Given the description of an element on the screen output the (x, y) to click on. 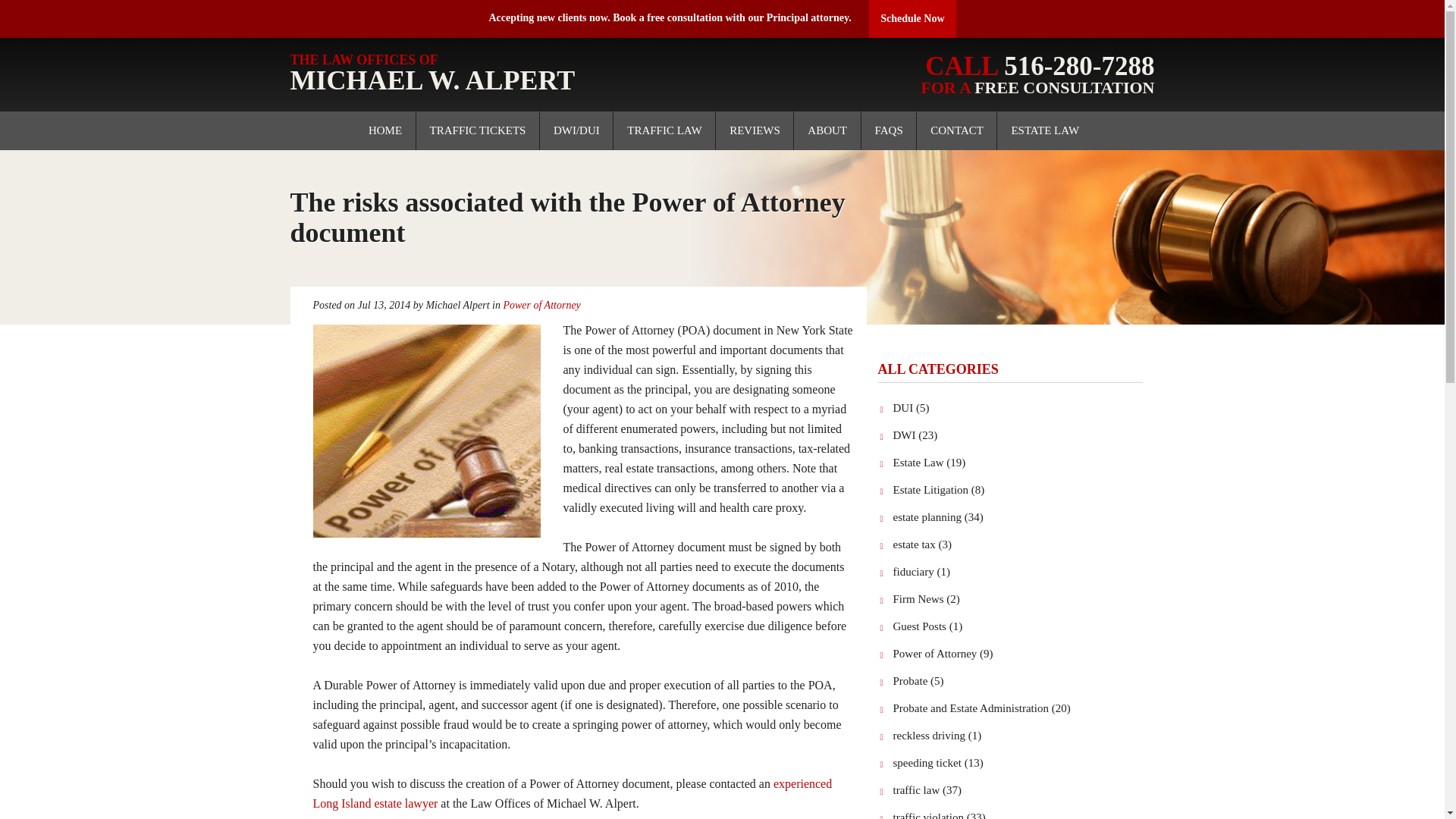
experienced Long Island estate lawyer (572, 793)
experienced Long Island estate lawyer (572, 793)
TRAFFIC TICKETS (478, 130)
Schedule Now (912, 18)
Power of Attorney (499, 73)
REVIEWS (540, 305)
ABOUT (754, 130)
CONTACT (826, 130)
FAQS (957, 130)
HOME (889, 130)
ESTATE LAW (384, 130)
TRAFFIC LAW (1045, 130)
